Given the description of an element on the screen output the (x, y) to click on. 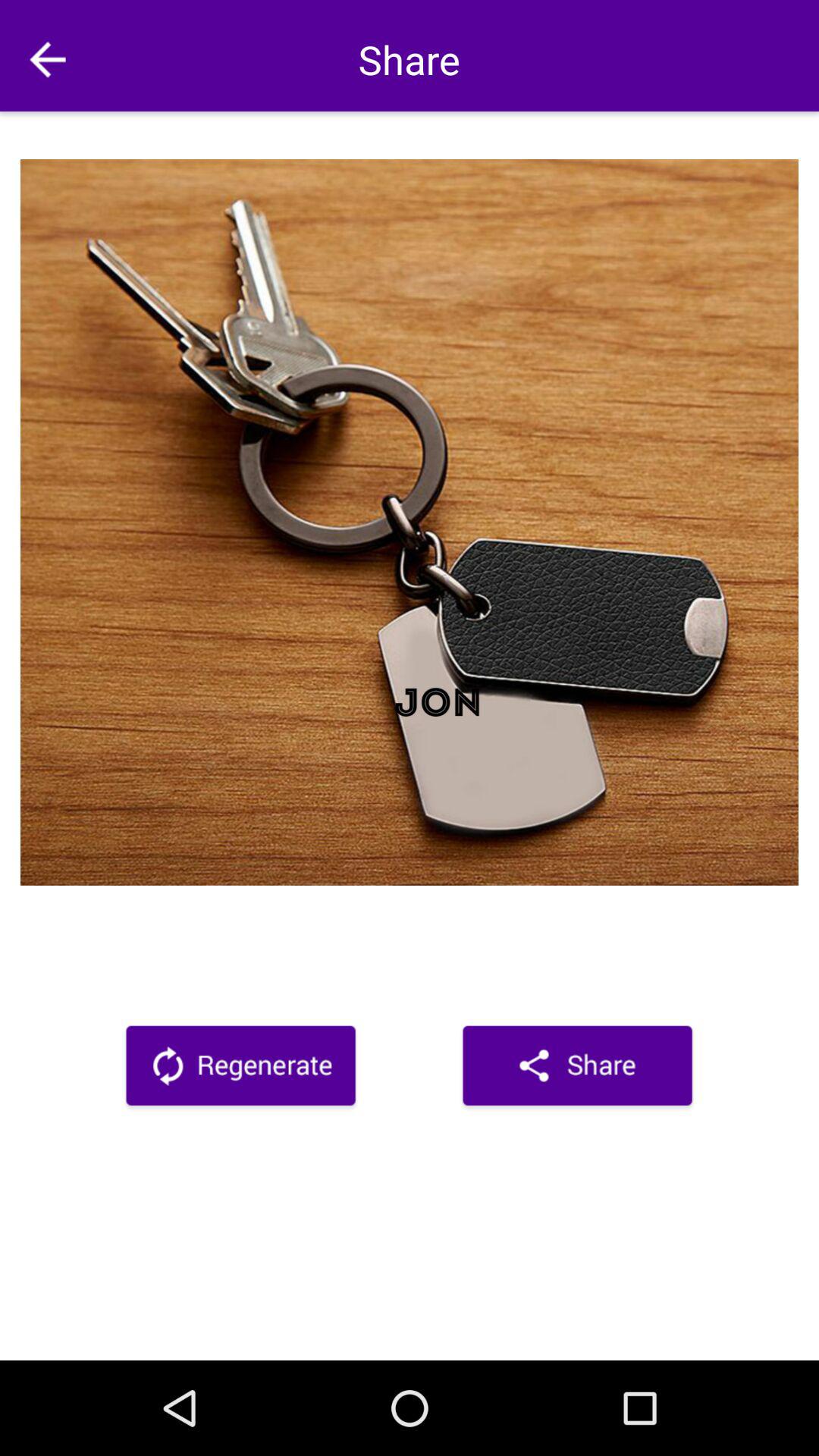
tap the icon at the bottom left corner (240, 1068)
